Given the description of an element on the screen output the (x, y) to click on. 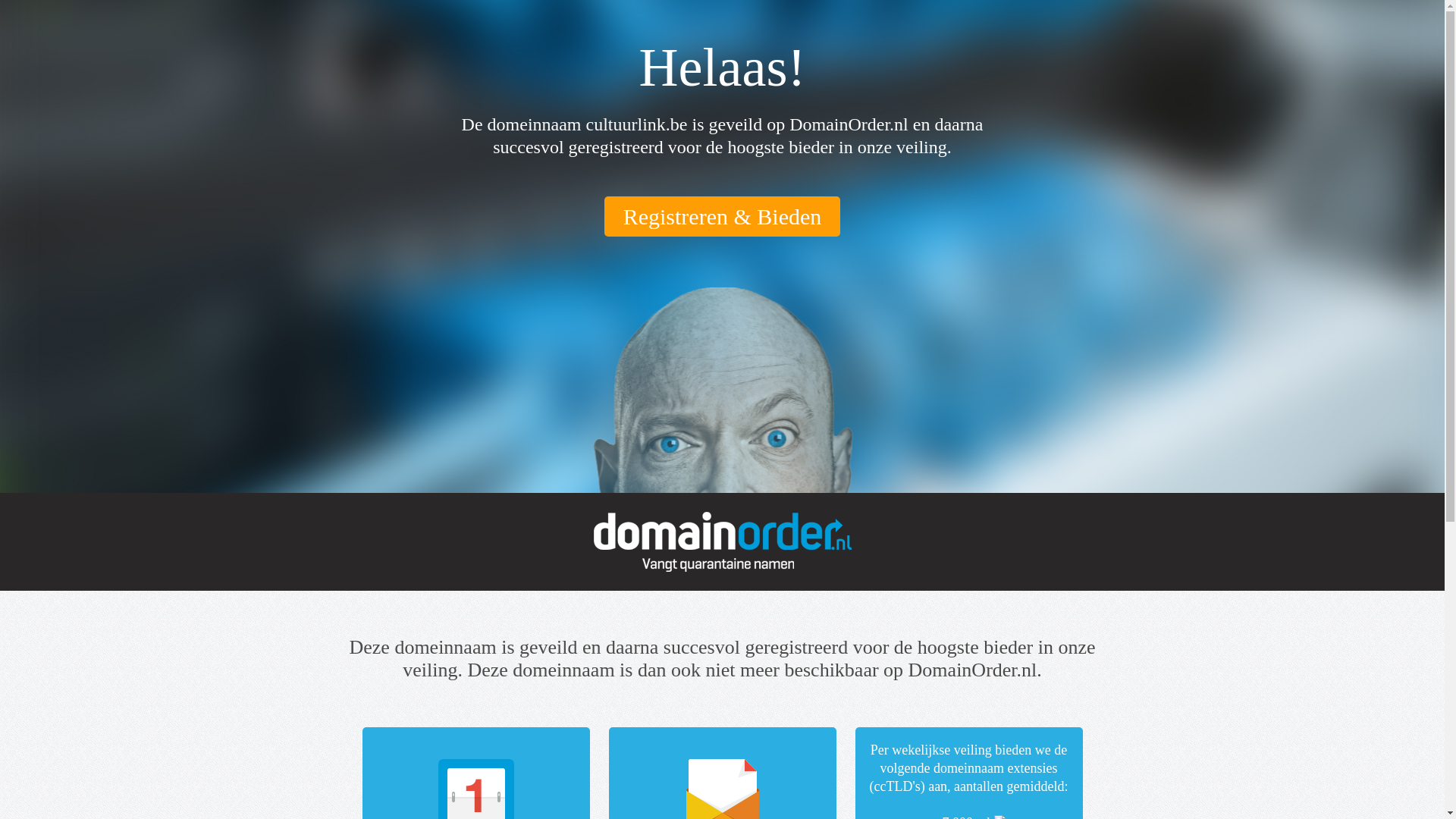
Registreren & Bieden Element type: text (722, 216)
